Given the description of an element on the screen output the (x, y) to click on. 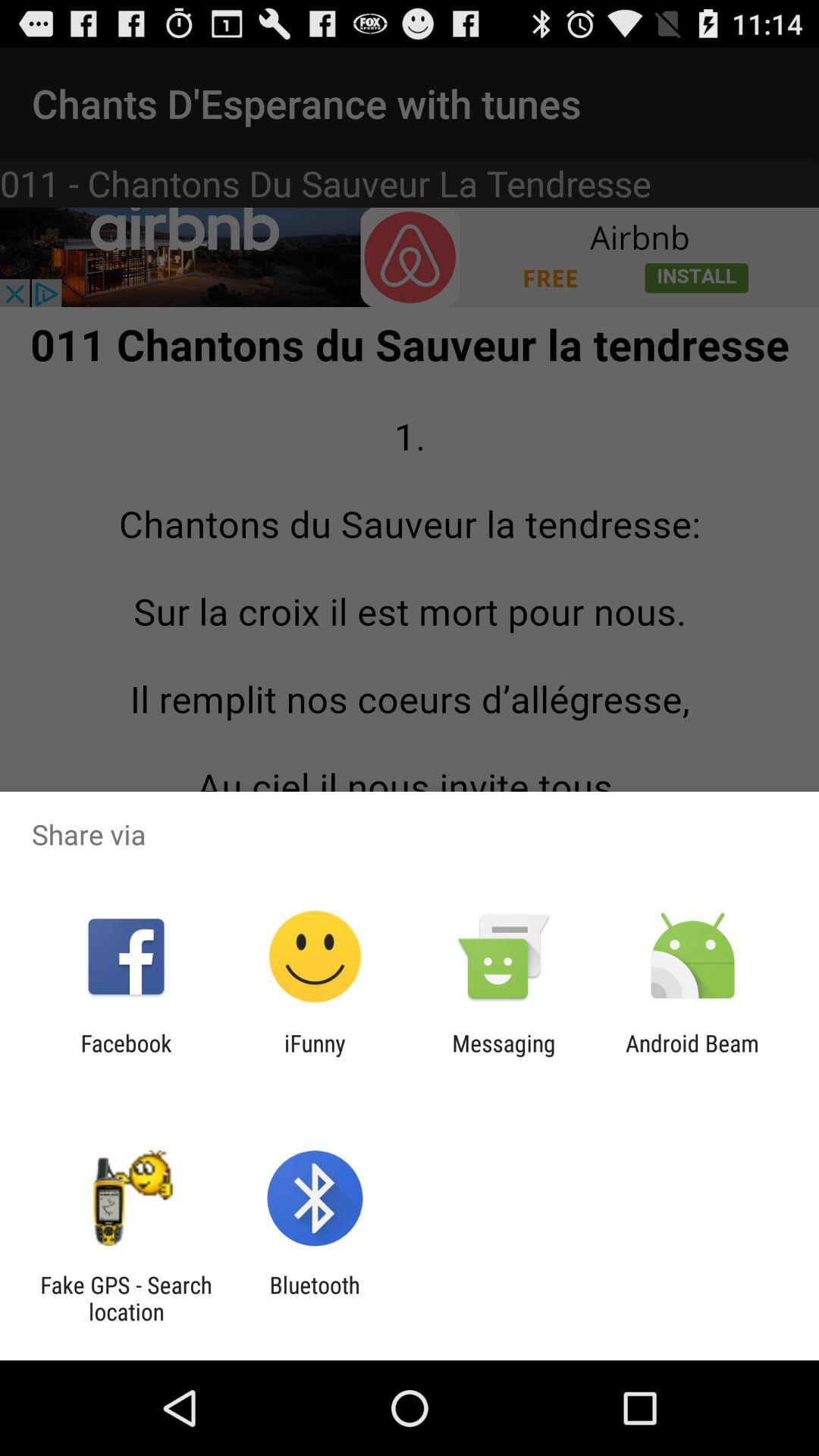
launch the icon next to the facebook app (314, 1056)
